Given the description of an element on the screen output the (x, y) to click on. 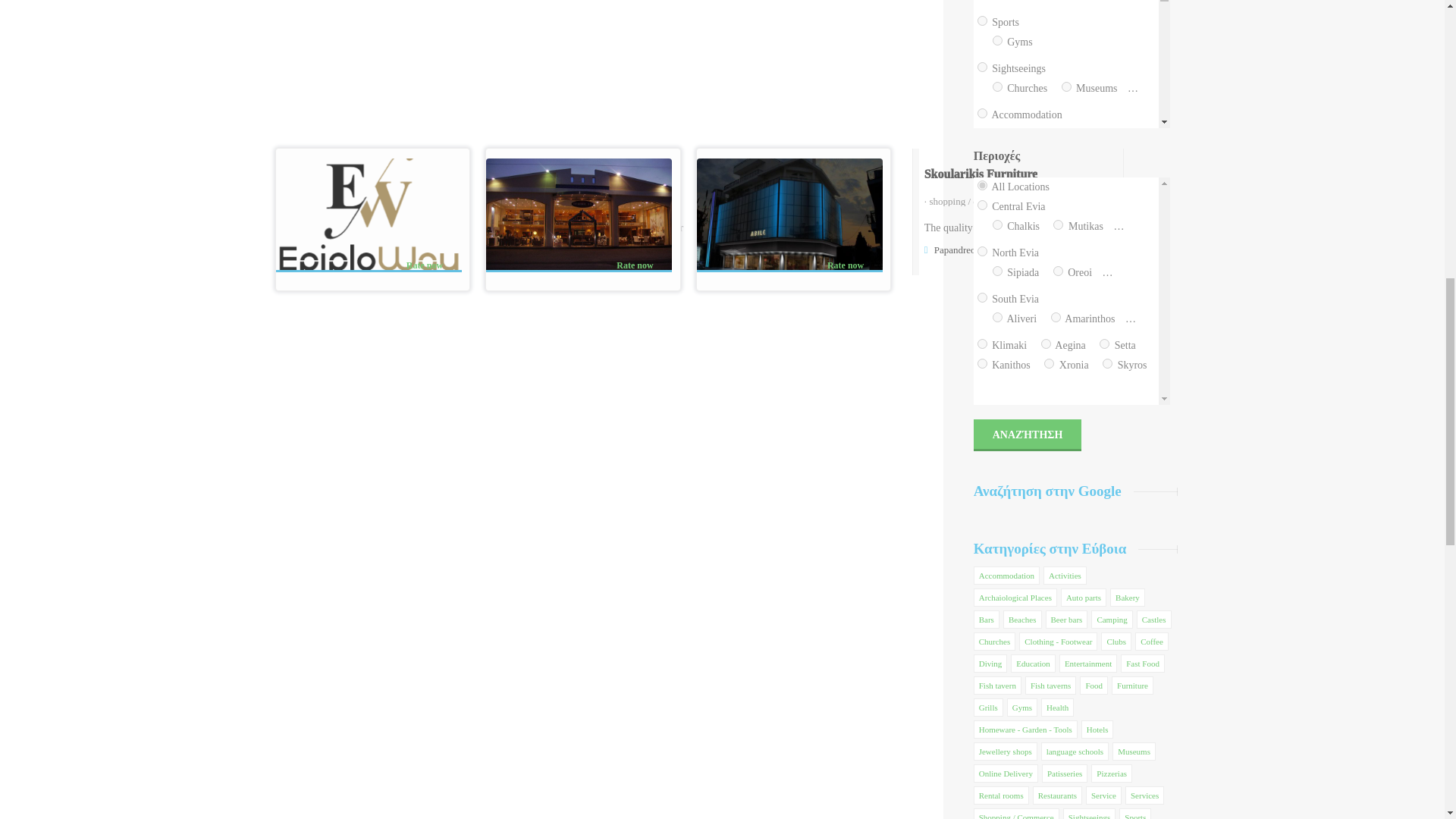
927 (1136, 86)
531 (981, 67)
533 (997, 86)
535 (1066, 86)
527 (997, 40)
523 (981, 20)
